Given the description of an element on the screen output the (x, y) to click on. 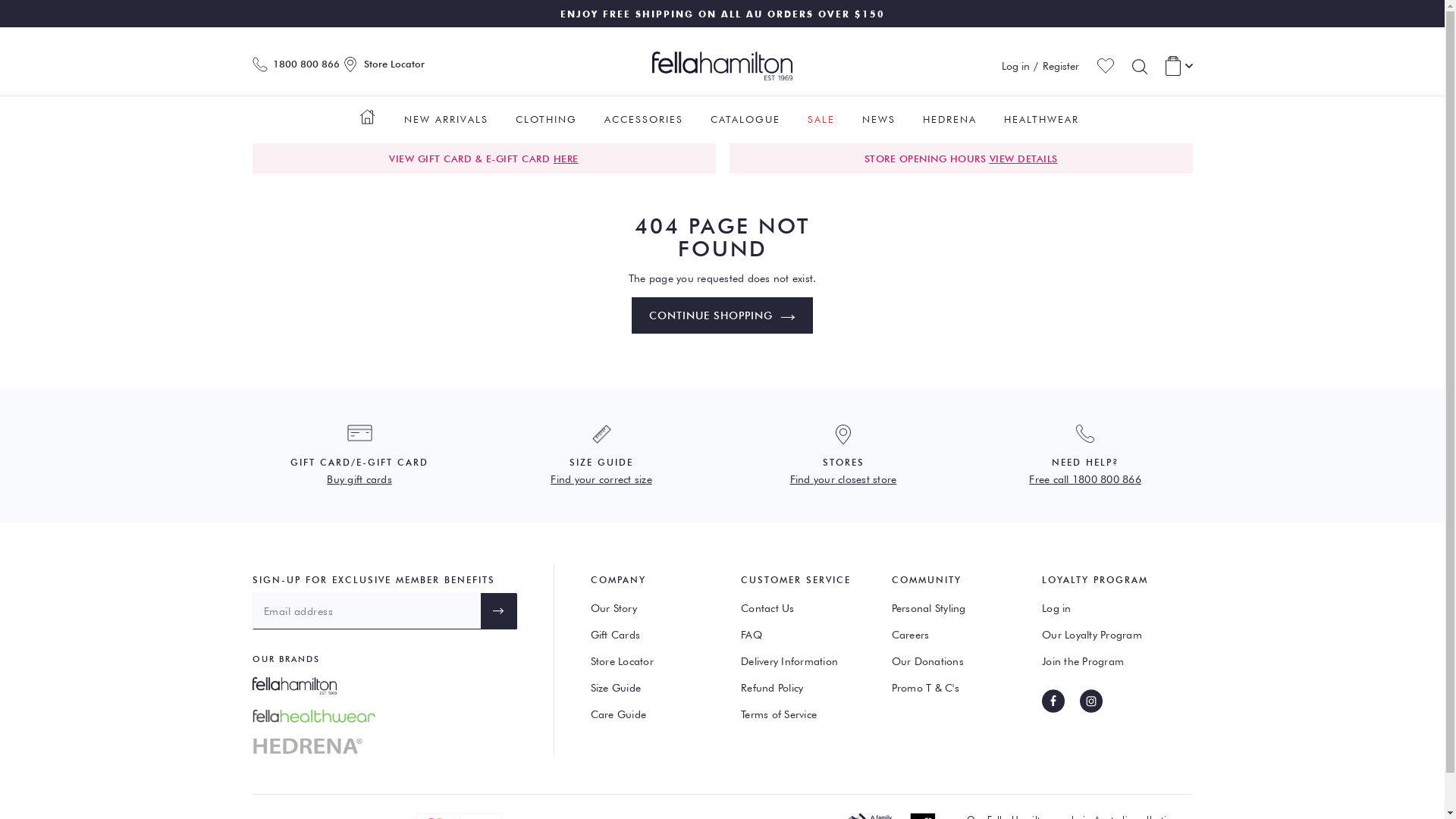
Promo T & C's Element type: text (955, 687)
HEDRENA Element type: text (949, 115)
Log in Element type: text (1015, 65)
NEWS Element type: text (878, 115)
ACCESSORIES Element type: text (643, 115)
HEALTHWEAR Element type: text (1041, 115)
Size Guide Element type: text (653, 687)
Join the Program Element type: text (1105, 661)
Personal Styling Element type: text (955, 608)
Free call 1800 800 866 Element type: text (1085, 479)
Our Story Element type: text (653, 608)
NEW ARRIVALS Element type: text (446, 115)
FAQ Element type: text (804, 634)
CLOTHING Element type: text (546, 115)
Care Guide Element type: text (653, 714)
Delivery Information Element type: text (804, 661)
Store Locator Element type: text (653, 661)
Contact Us Element type: text (804, 608)
Buy gift cards Element type: text (359, 479)
Register Element type: text (1059, 65)
Terms of Service Element type: text (804, 714)
Store Locator Element type: text (383, 64)
SALE Element type: text (820, 115)
VIEW DETAILS Element type: text (1022, 158)
1800 800 866 Element type: text (295, 64)
Find your correct size Element type: text (601, 479)
Careers Element type: text (955, 634)
CATALOGUE Element type: text (744, 115)
Gift Cards Element type: text (653, 634)
3D02038A-3678-474E-ACD9-DC271B7D0582 Element type: text (366, 120)
Log in Element type: text (1105, 608)
Our Donations Element type: text (955, 661)
CONTINUE SHOPPING Element type: text (721, 315)
Our Loyalty Program Element type: text (1105, 634)
Refund Policy Element type: text (804, 687)
HERE Element type: text (565, 158)
Find your closest store Element type: text (843, 479)
